Given the description of an element on the screen output the (x, y) to click on. 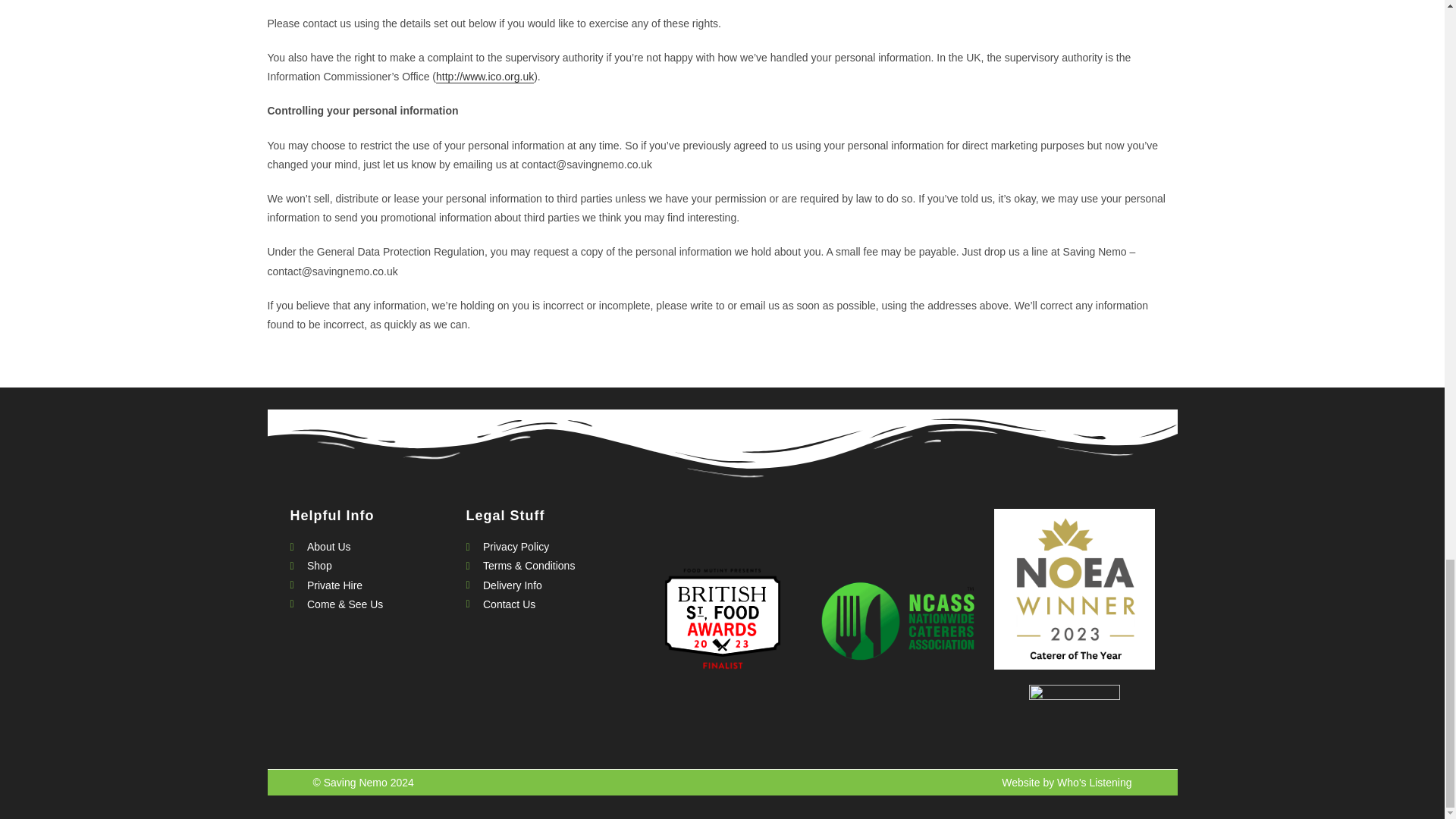
Website by Who's Listening (1066, 782)
Delivery Info (545, 585)
About Us (369, 546)
Private Hire (369, 585)
Privacy Policy (545, 546)
Shop (369, 565)
Contact Us (545, 604)
